Given the description of an element on the screen output the (x, y) to click on. 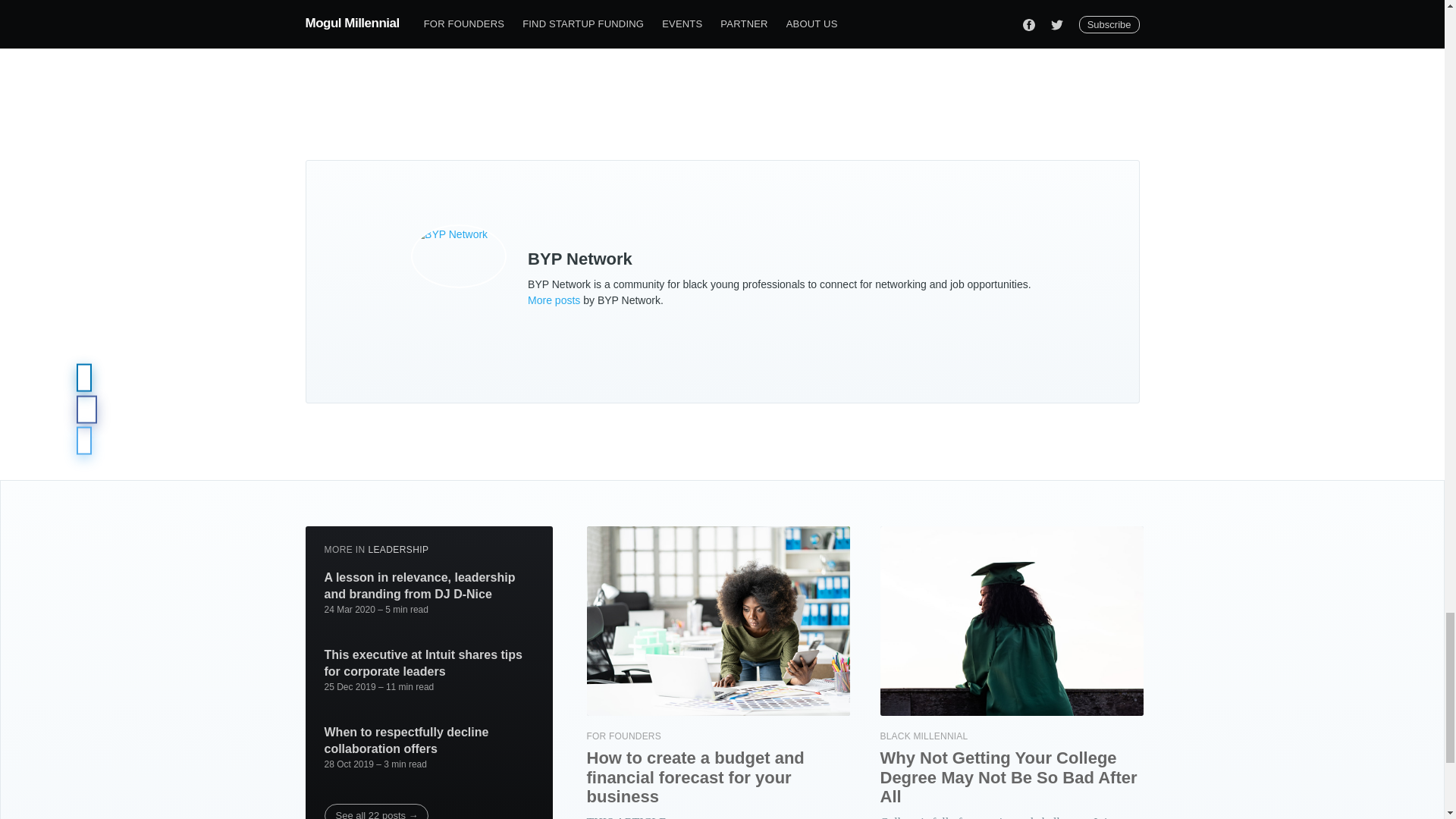
When to respectfully decline collaboration offers (429, 739)
More posts (553, 300)
This executive at Intuit shares tips for corporate leaders (429, 663)
LEADERSHIP (398, 549)
